Given the description of an element on the screen output the (x, y) to click on. 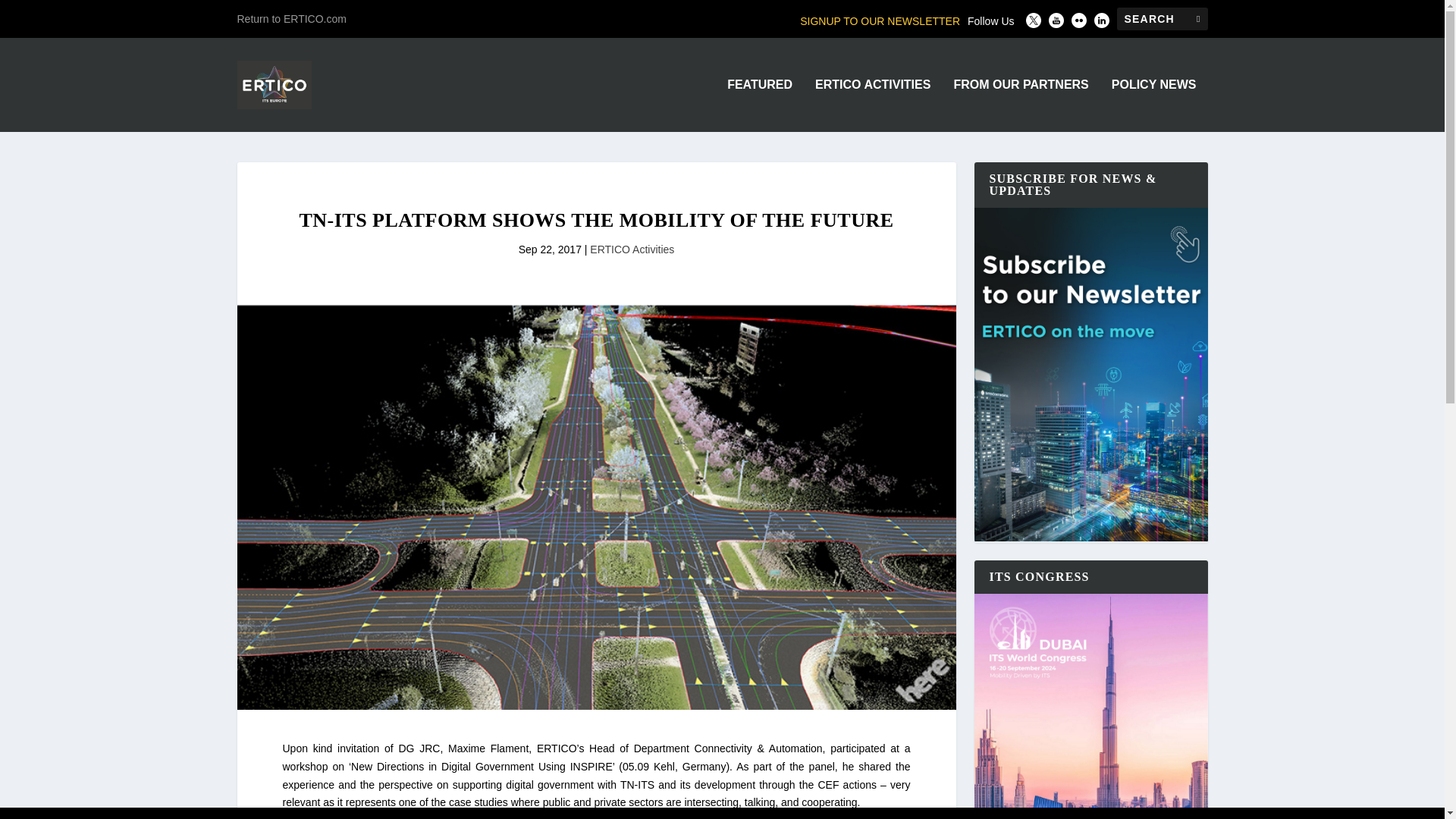
FROM OUR PARTNERS (1020, 104)
ERTICO ACTIVITIES (872, 104)
ERTICO Activities (631, 249)
Return to ERTICO.com (290, 18)
Search for: (1161, 18)
FEATURED (759, 104)
SIGNUP TO OUR NEWSLETTER (879, 21)
POLICY NEWS (1154, 104)
